Given the description of an element on the screen output the (x, y) to click on. 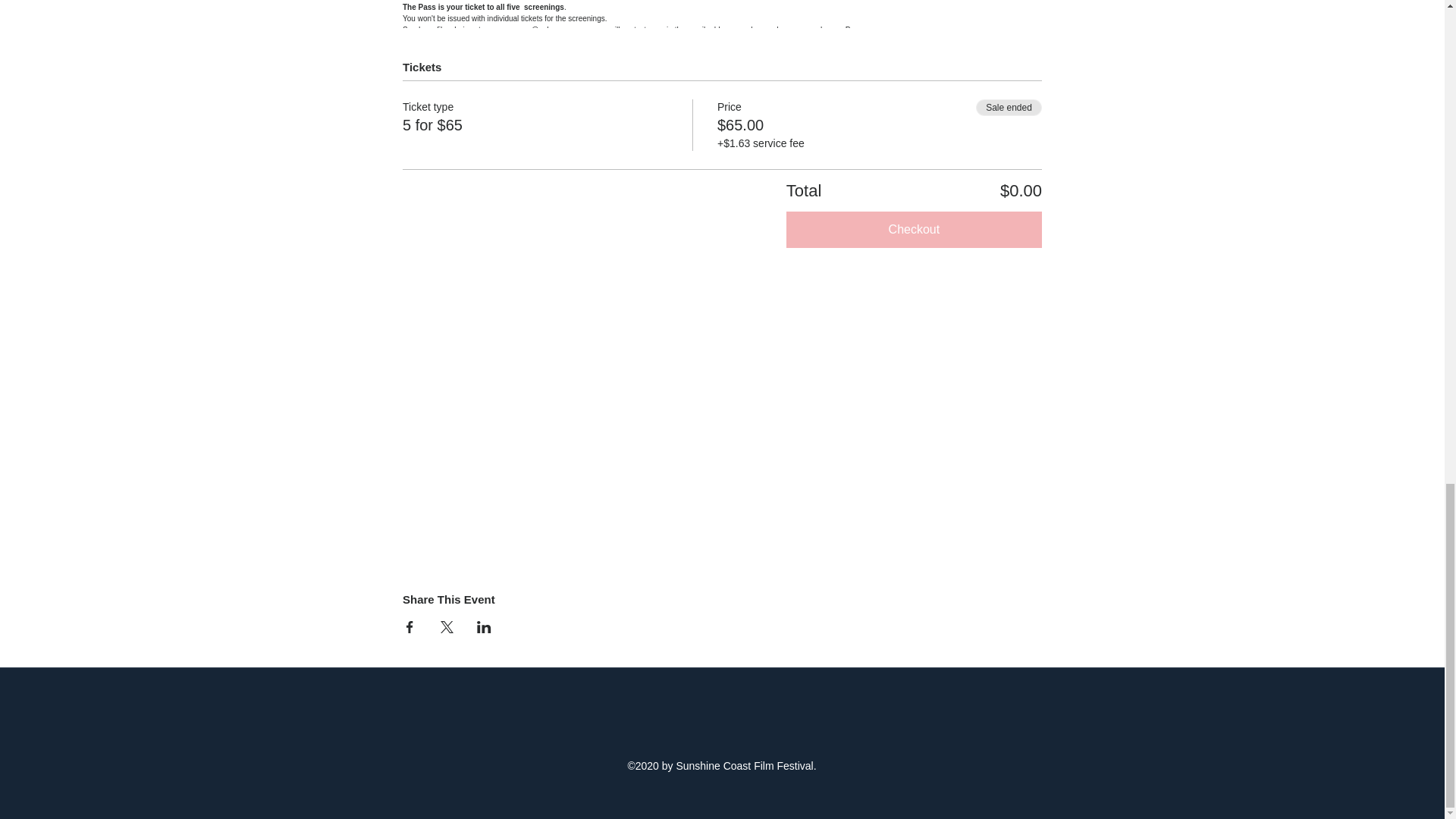
Checkout (914, 229)
